Given the description of an element on the screen output the (x, y) to click on. 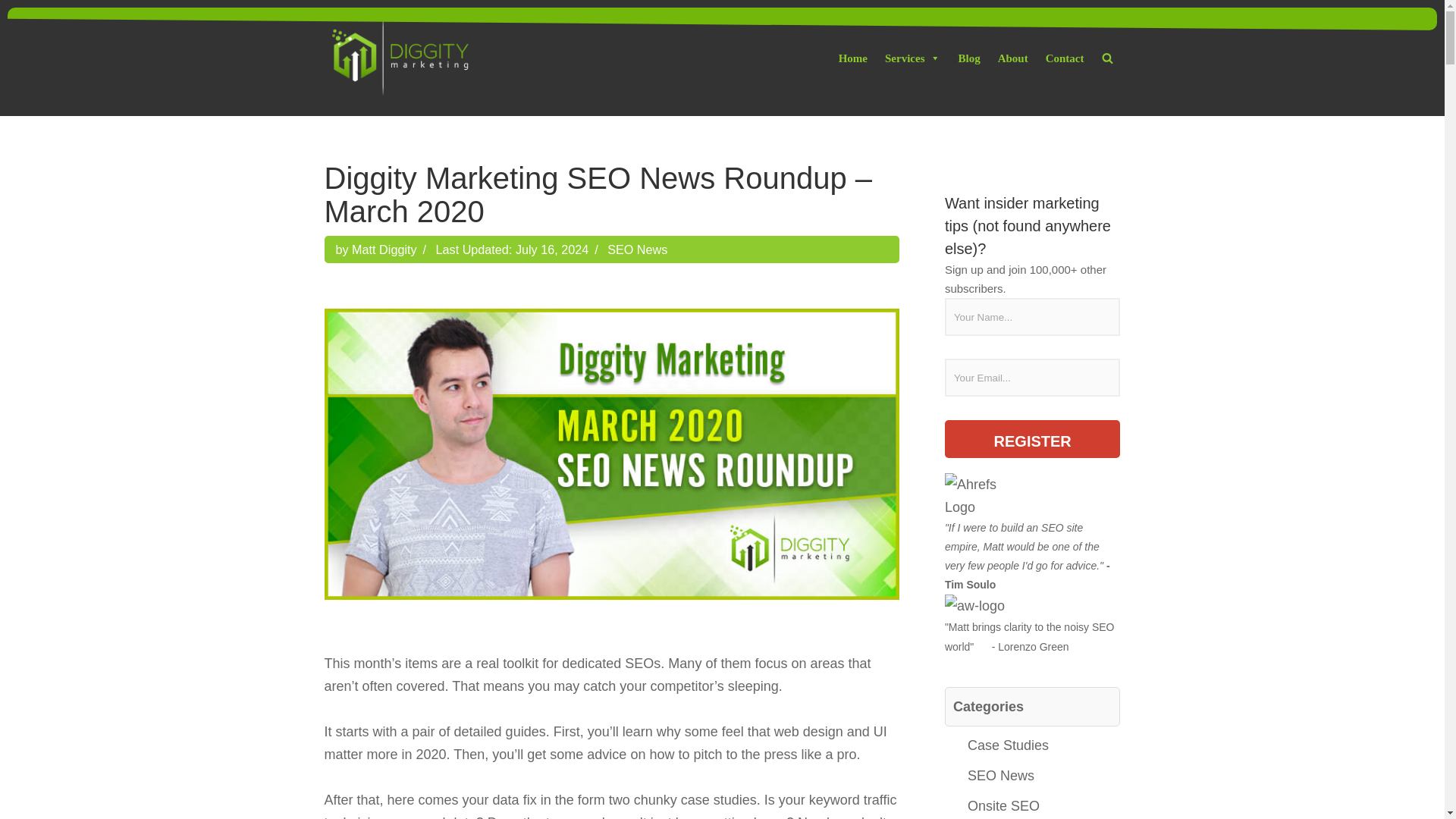
ahrefslogo2-sidebar (983, 495)
Home (853, 57)
aw-logo (974, 605)
Services (912, 57)
Posts by Matt Diggity (384, 249)
Contact (1065, 57)
stm-sidebar (974, 605)
SEO News (636, 249)
About (1012, 57)
Blog (968, 57)
